Given the description of an element on the screen output the (x, y) to click on. 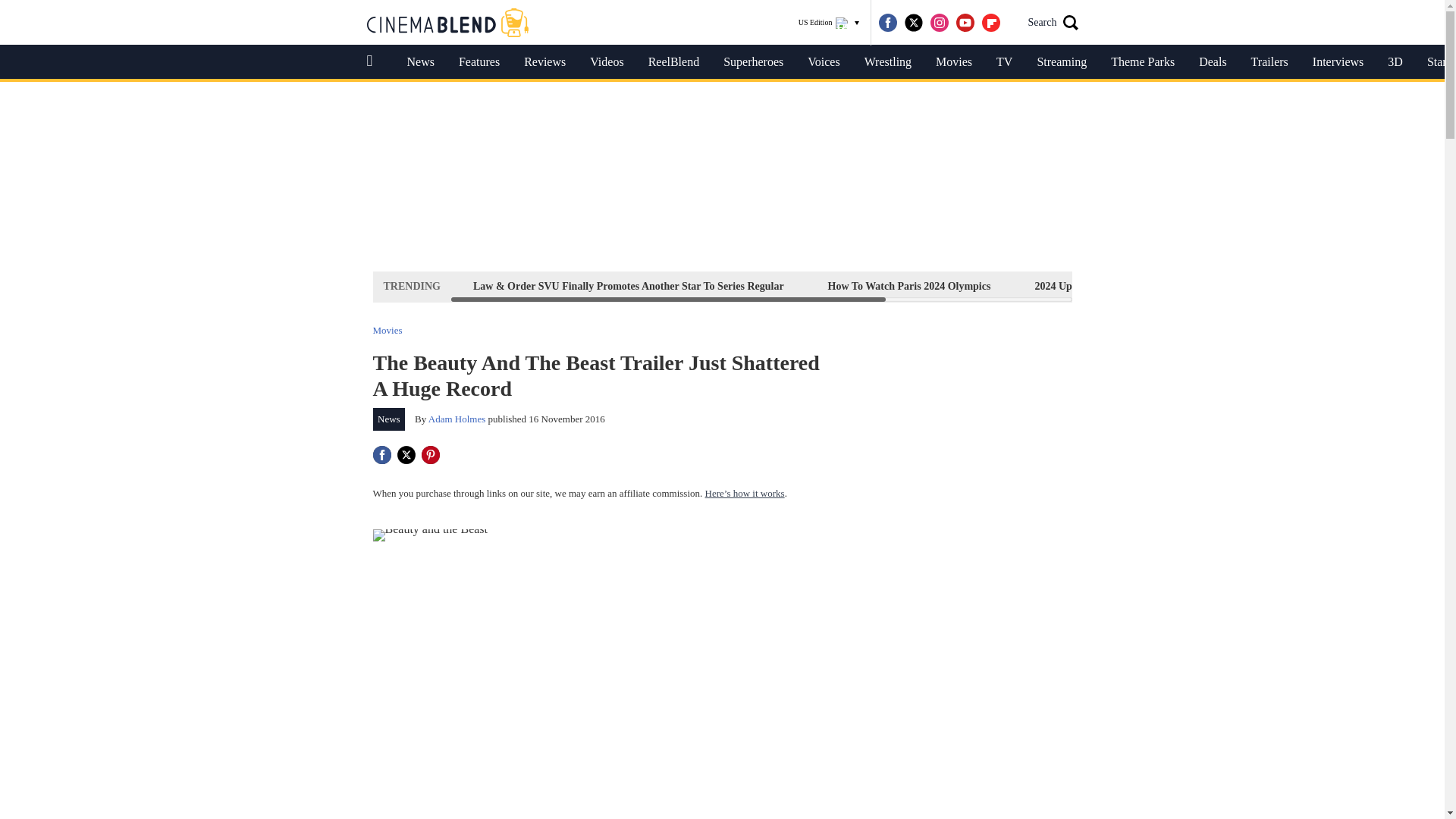
Deals (1212, 61)
Voices (822, 61)
3D (1395, 61)
News (389, 418)
Movies (953, 61)
2024 Upcoming Movies (1086, 286)
TV (1004, 61)
US Edition (828, 22)
100 Best Sitcoms Of All Time (1250, 286)
Superheroes (752, 61)
Movies (387, 329)
Theme Parks (1142, 61)
Reviews (545, 61)
Features (479, 61)
Streaming (1062, 61)
